Given the description of an element on the screen output the (x, y) to click on. 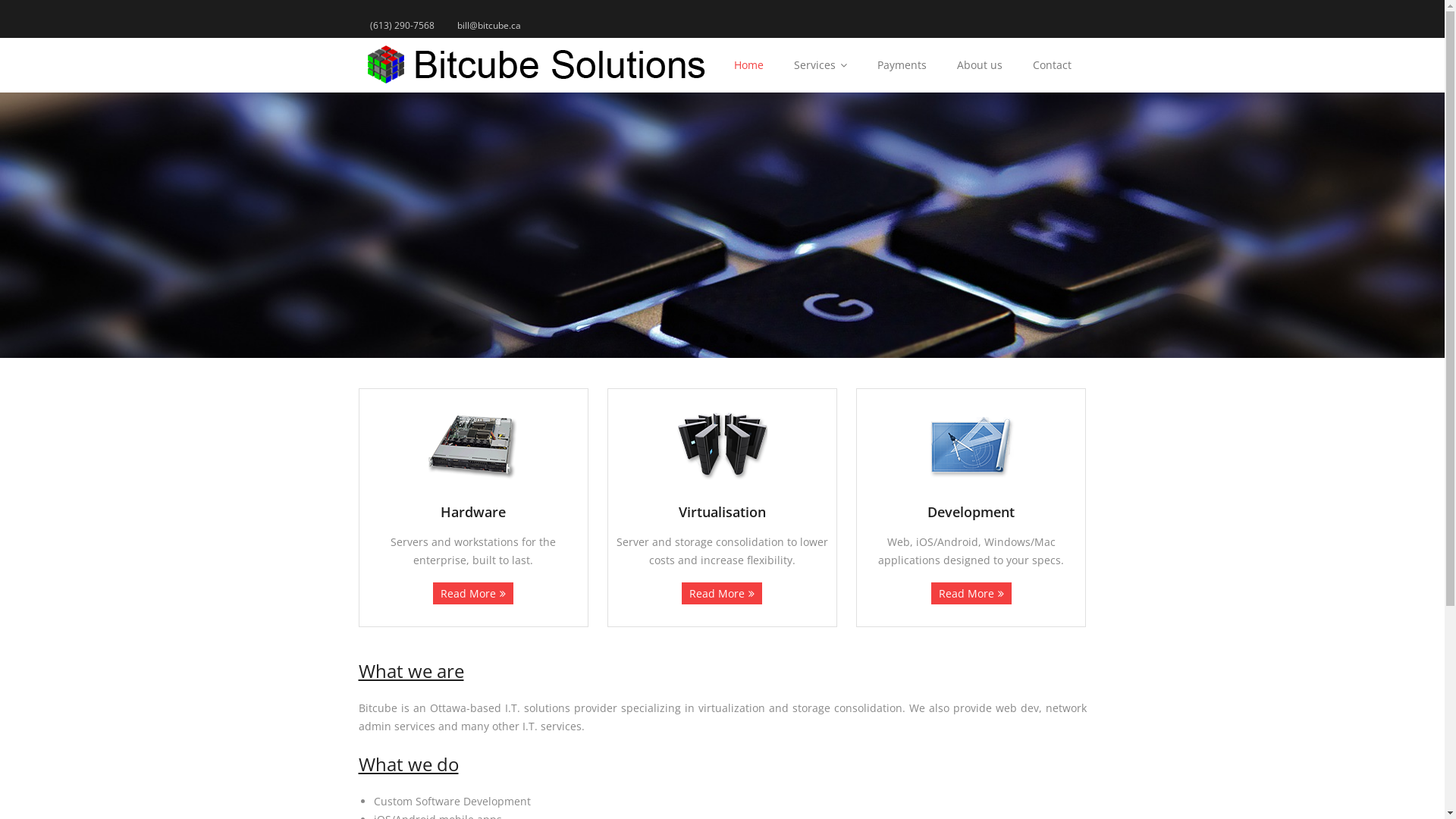
Payments Element type: text (901, 64)
Read More Element type: text (721, 593)
About us Element type: text (979, 64)
Read More Element type: text (971, 593)
bill@bitcube.ca Element type: text (488, 24)
2 Element type: text (713, 338)
Services Element type: text (819, 64)
1 Element type: text (695, 338)
Contact Element type: text (1051, 64)
4 Element type: text (748, 338)
(613) 290-7568 Element type: text (401, 24)
Read More Element type: text (473, 593)
3 Element type: text (730, 338)
Home Element type: text (748, 64)
